Given the description of an element on the screen output the (x, y) to click on. 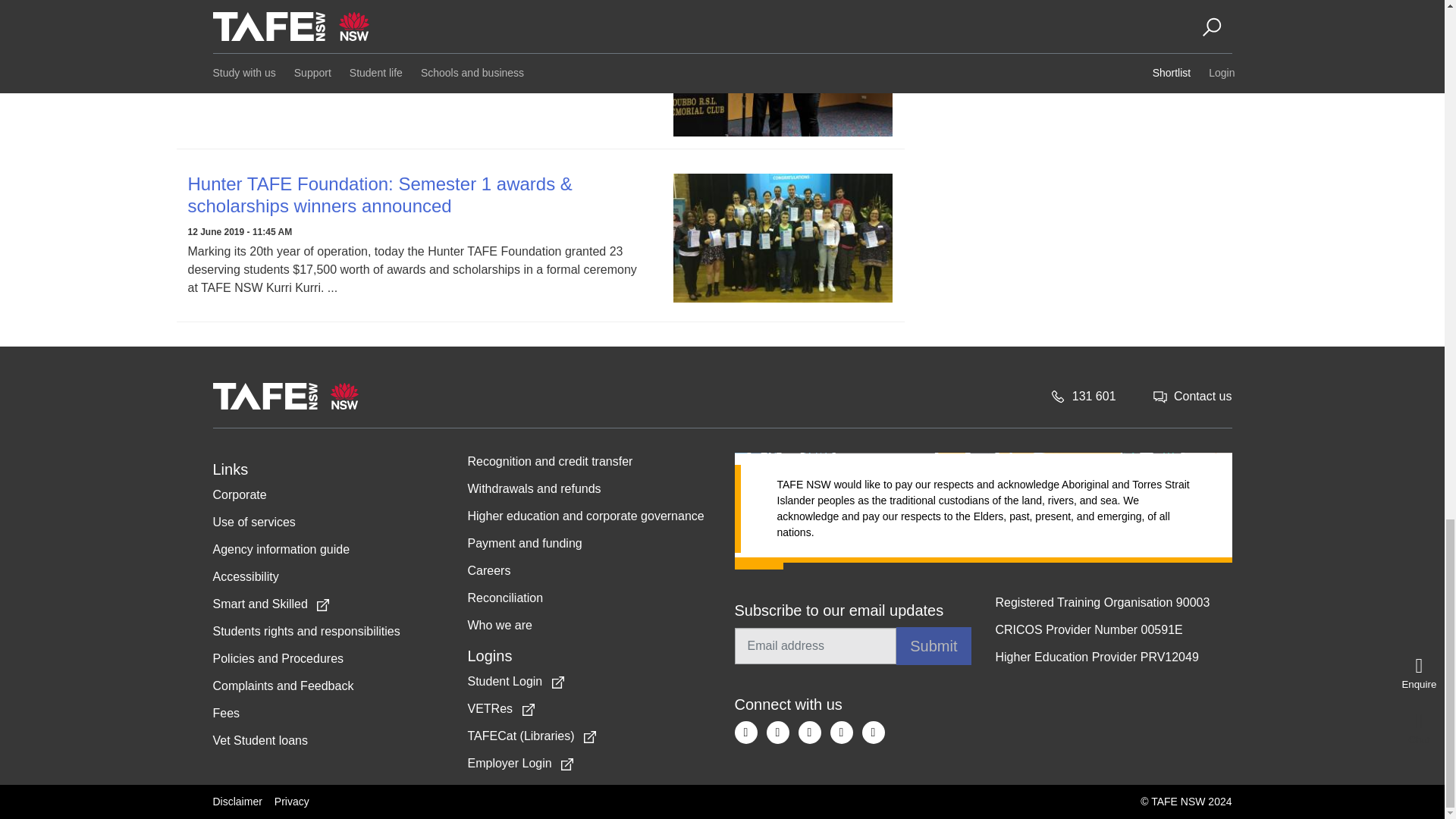
TAFE NSW Home (285, 396)
